Given the description of an element on the screen output the (x, y) to click on. 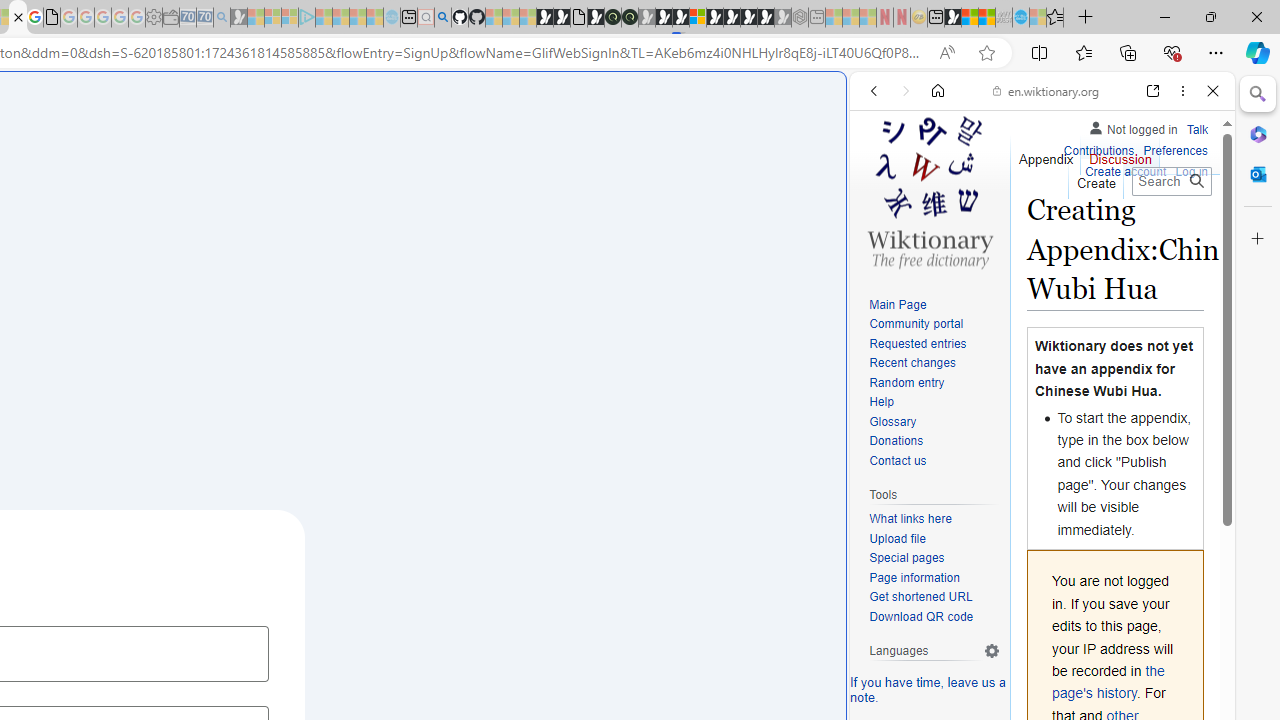
Recent changes (934, 363)
Download QR code (921, 616)
